Given the description of an element on the screen output the (x, y) to click on. 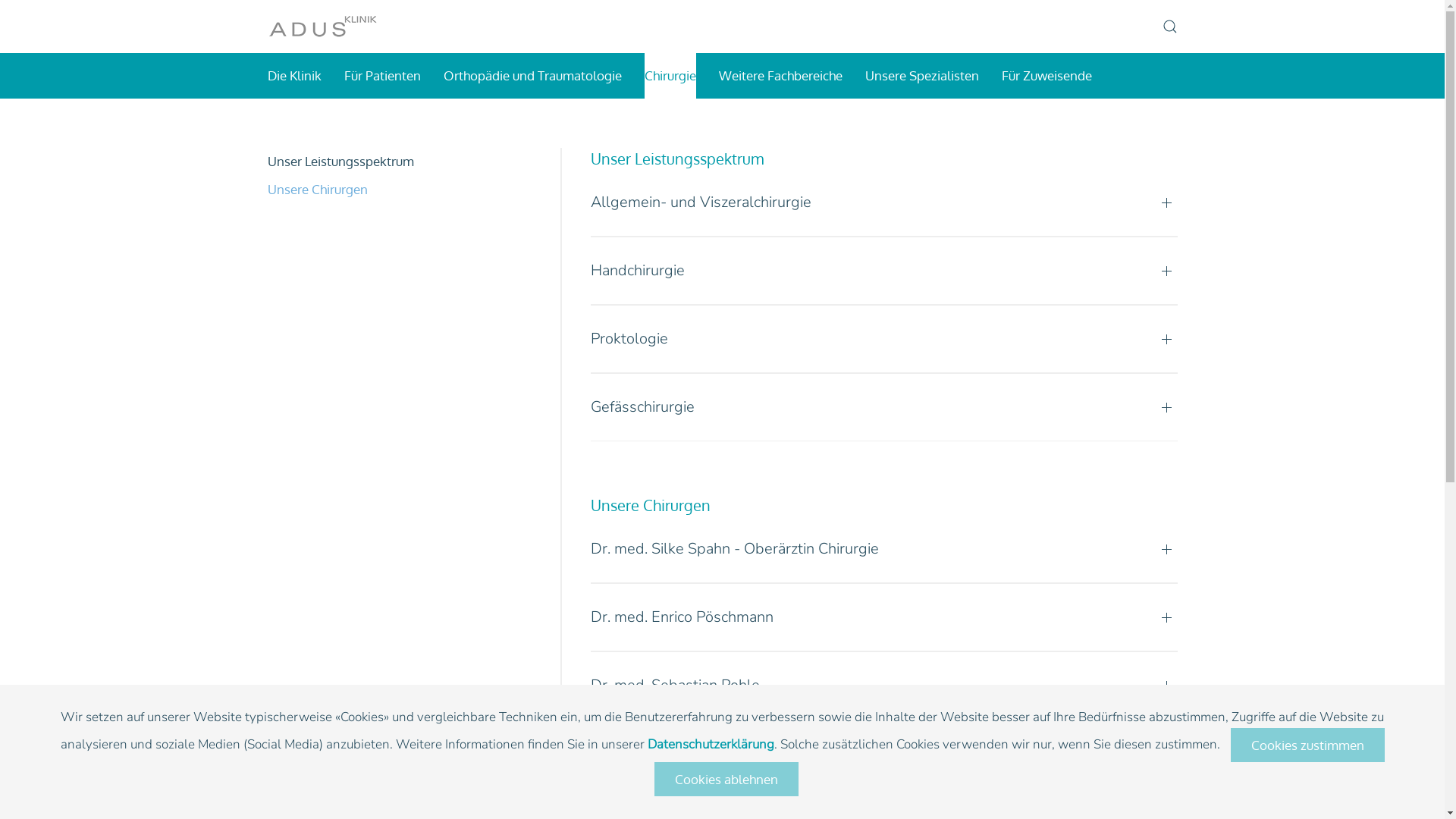
PD Dr. med. Lutz Reiher Element type: text (883, 753)
Dr. med. Sebastian Pohle Element type: text (883, 685)
Weitere Fachbereiche Element type: text (780, 75)
Allgemein- und Viszeralchirurgie Element type: text (883, 202)
Die Klinik Element type: text (293, 75)
Chirurgie Element type: text (670, 75)
Cookies zustimmen Element type: text (1306, 745)
Unsere Spezialisten Element type: text (921, 75)
Cookies ablehnen Element type: text (725, 779)
Proktologie Element type: text (883, 338)
Unsere Chirurgen Element type: text (398, 189)
Handchirurgie Element type: text (883, 270)
Unser Leistungsspektrum Element type: text (398, 161)
